Given the description of an element on the screen output the (x, y) to click on. 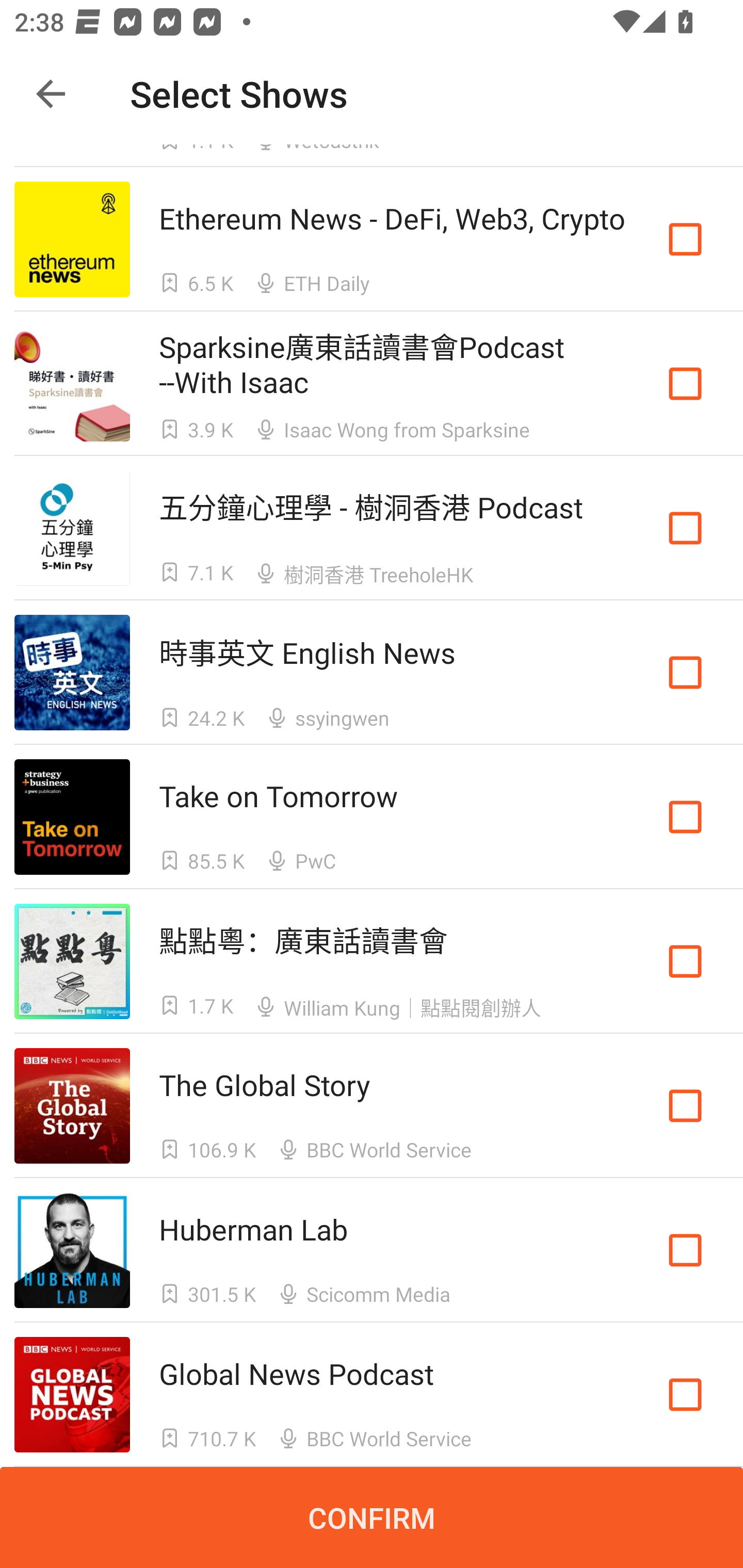
Navigate up (50, 93)
Take on Tomorrow Take on Tomorrow  85.5 K  PwC (371, 816)
CONFIRM (371, 1517)
